Given the description of an element on the screen output the (x, y) to click on. 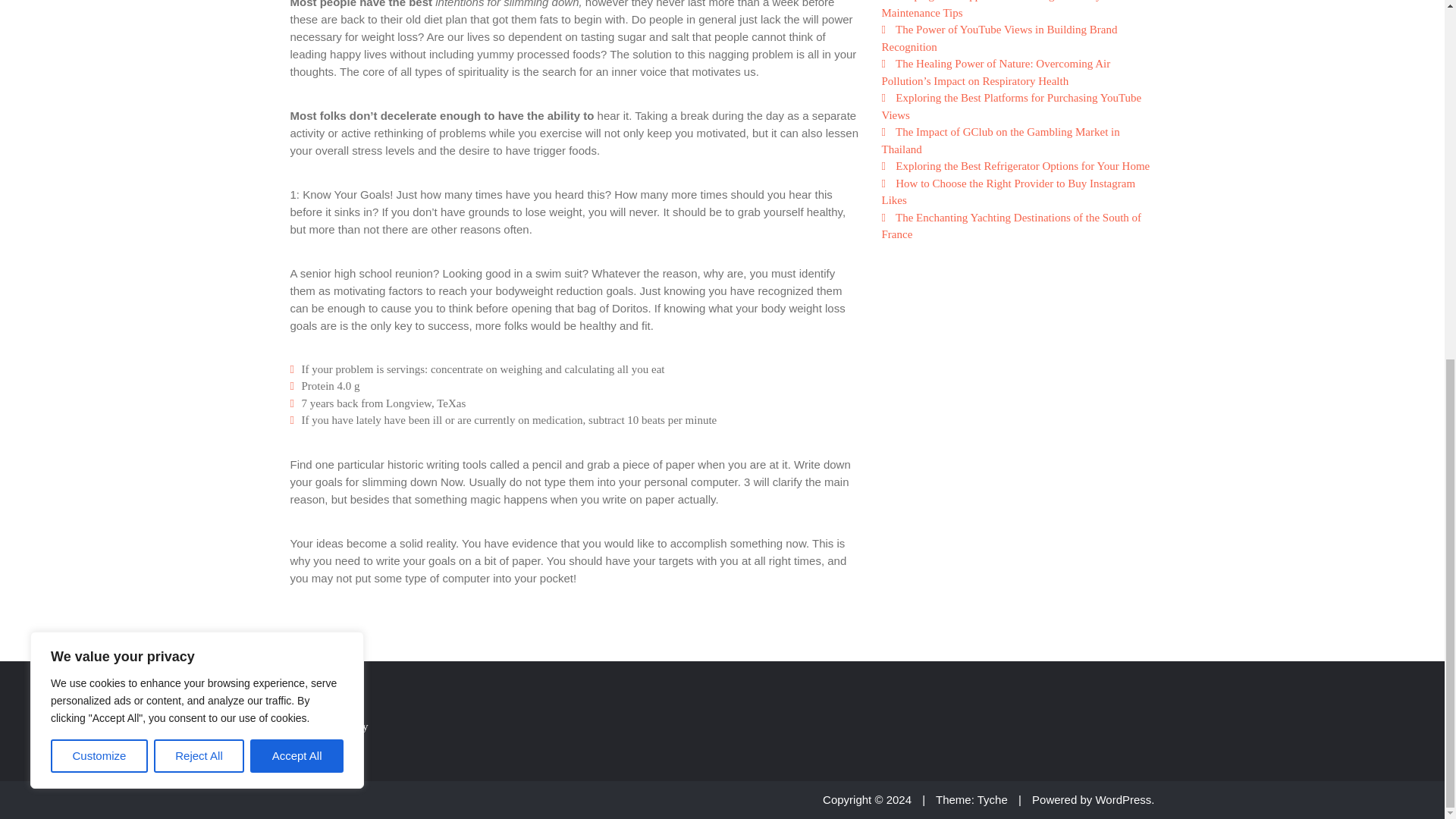
health (344, 635)
Customize (99, 120)
Accept All (296, 120)
Reject All (199, 120)
